Given the description of an element on the screen output the (x, y) to click on. 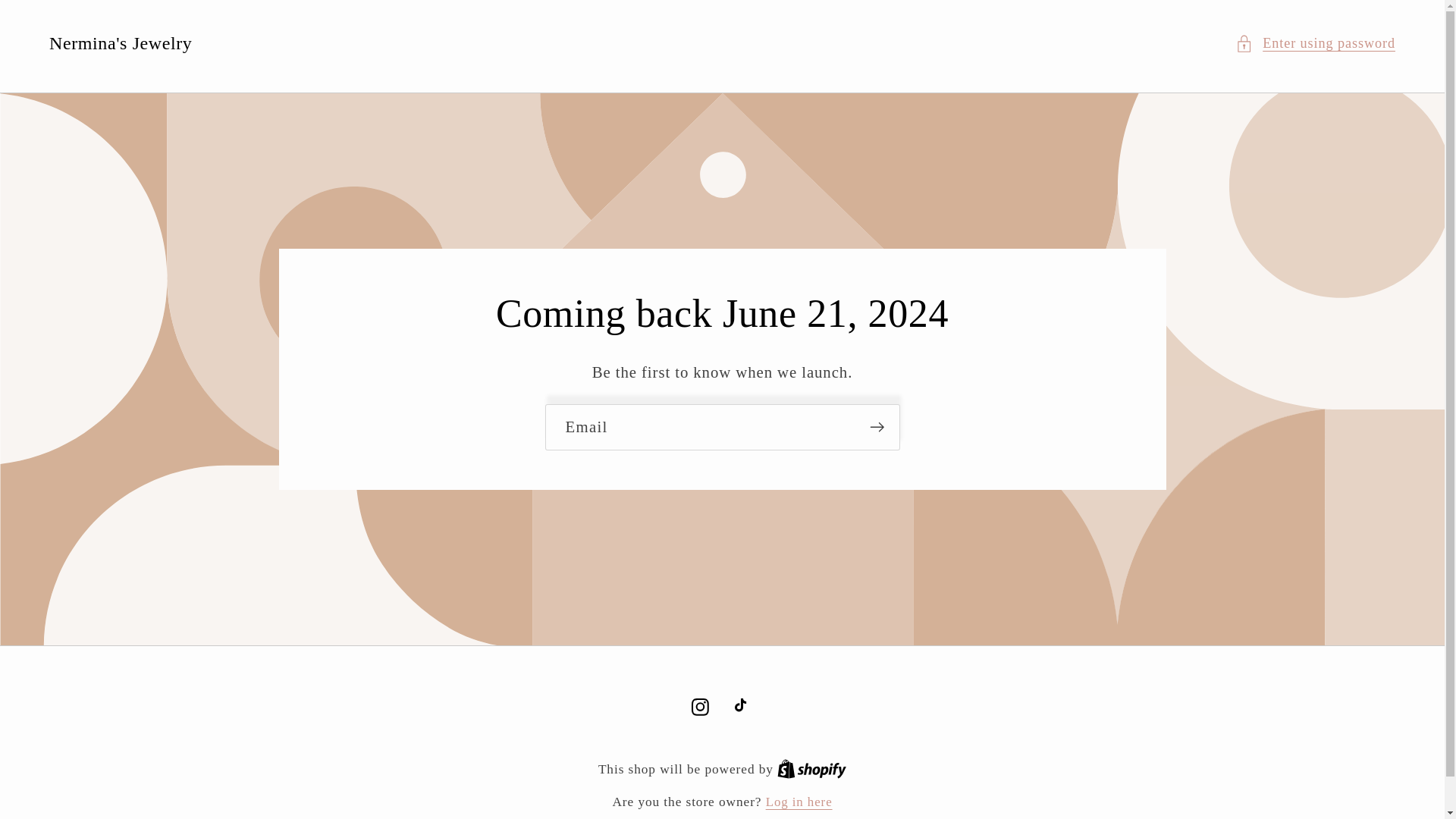
Shopify logo (811, 768)
TikTok (743, 706)
Skip to content (59, 22)
Create your own online store with Shopify (811, 769)
Log in here (811, 769)
Instagram (798, 801)
